Given the description of an element on the screen output the (x, y) to click on. 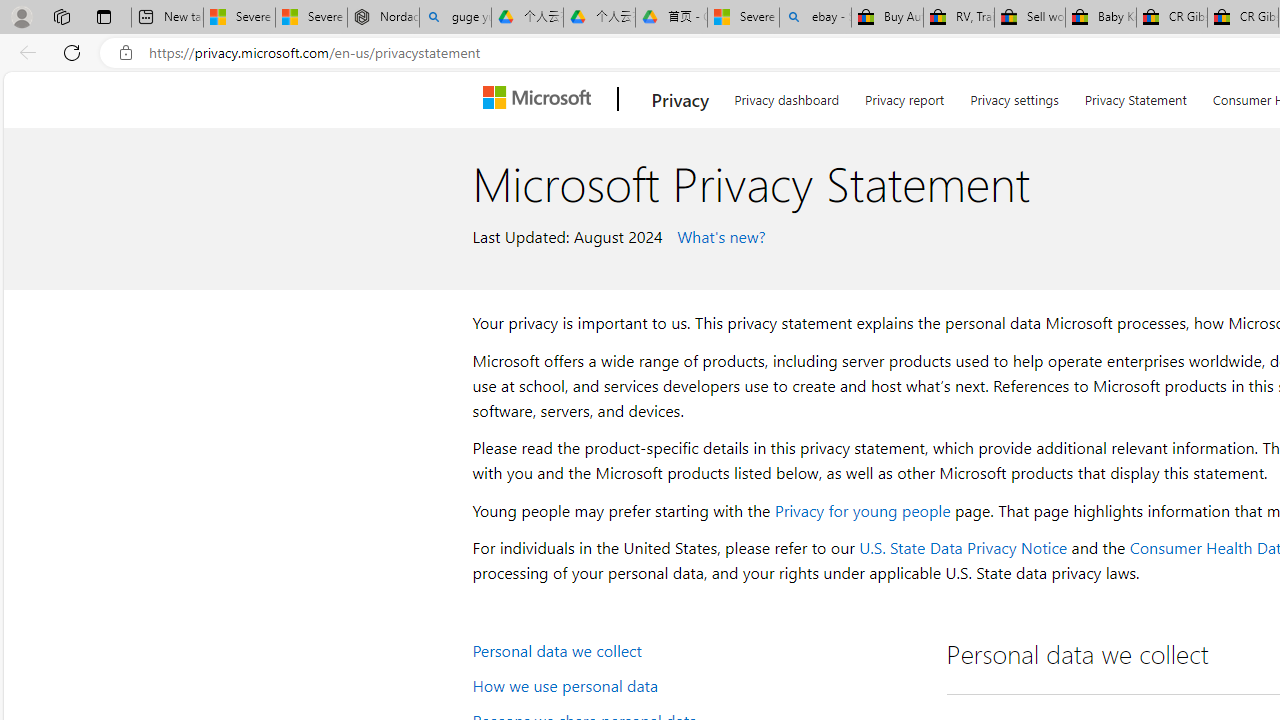
Privacy Statement (1135, 96)
Personal Profile (21, 16)
Sell worldwide with eBay (1029, 17)
Privacy report (904, 96)
U.S. State Data Privacy Notice (962, 547)
Privacy Statement (1135, 96)
Privacy dashboard (786, 96)
Privacy dashboard (786, 96)
Buy Auto Parts & Accessories | eBay (887, 17)
 What's new? (718, 235)
Nordace - Summer Adventures 2024 (383, 17)
Baby Keepsakes & Announcements for sale | eBay (1101, 17)
Microsoft (541, 99)
